Given the description of an element on the screen output the (x, y) to click on. 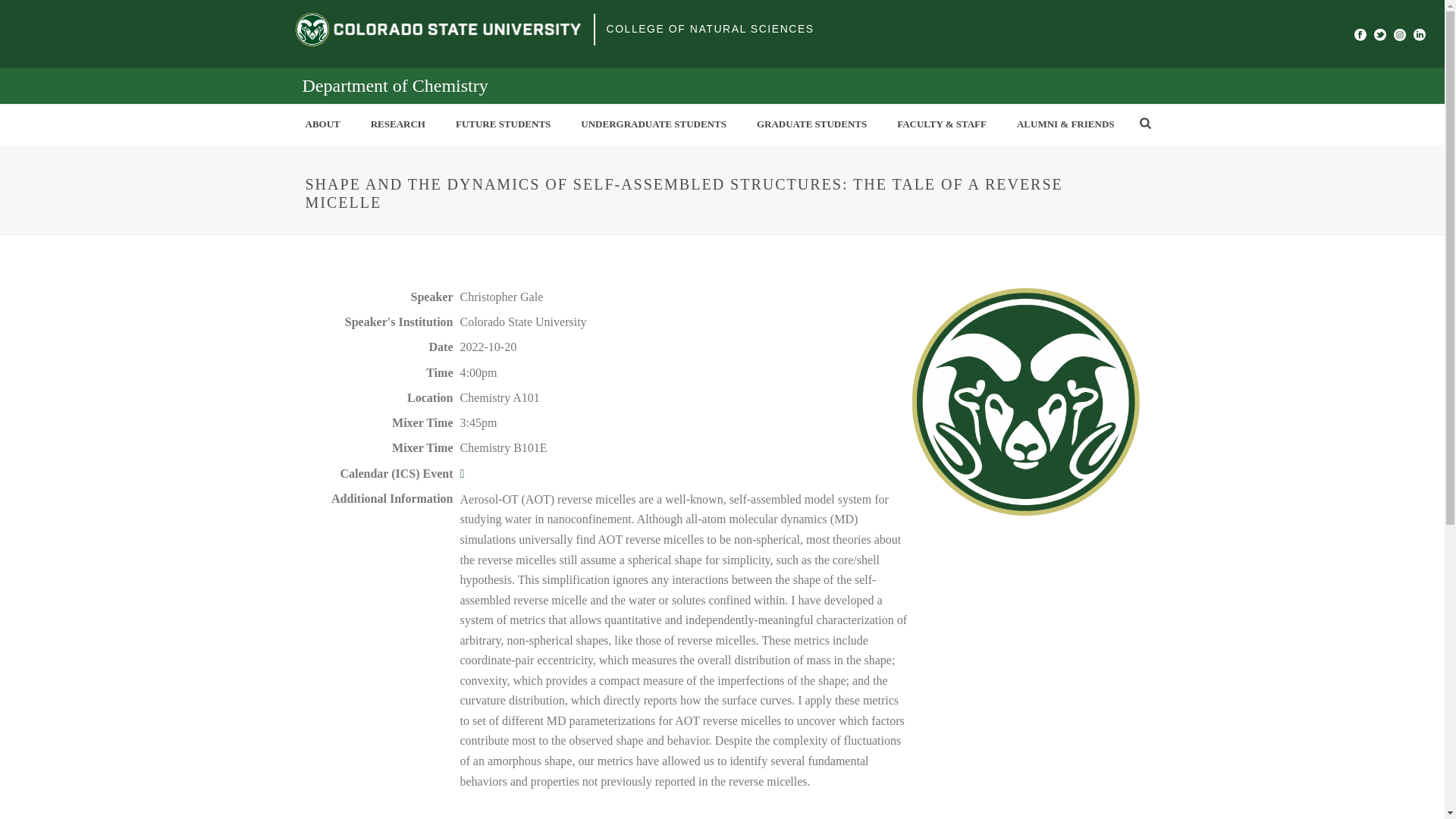
FUTURE STUDENTS (503, 124)
UNDERGRADUATE STUDENTS (653, 124)
RESEARCH (398, 124)
GRADUATE STUDENTS (811, 124)
Colorado State University (438, 29)
FUTURE STUDENTS (503, 124)
ABOUT (322, 124)
Department of Chemistry (394, 85)
COLLEGE OF NATURAL SCIENCES (710, 29)
RESEARCH (398, 124)
